Given the description of an element on the screen output the (x, y) to click on. 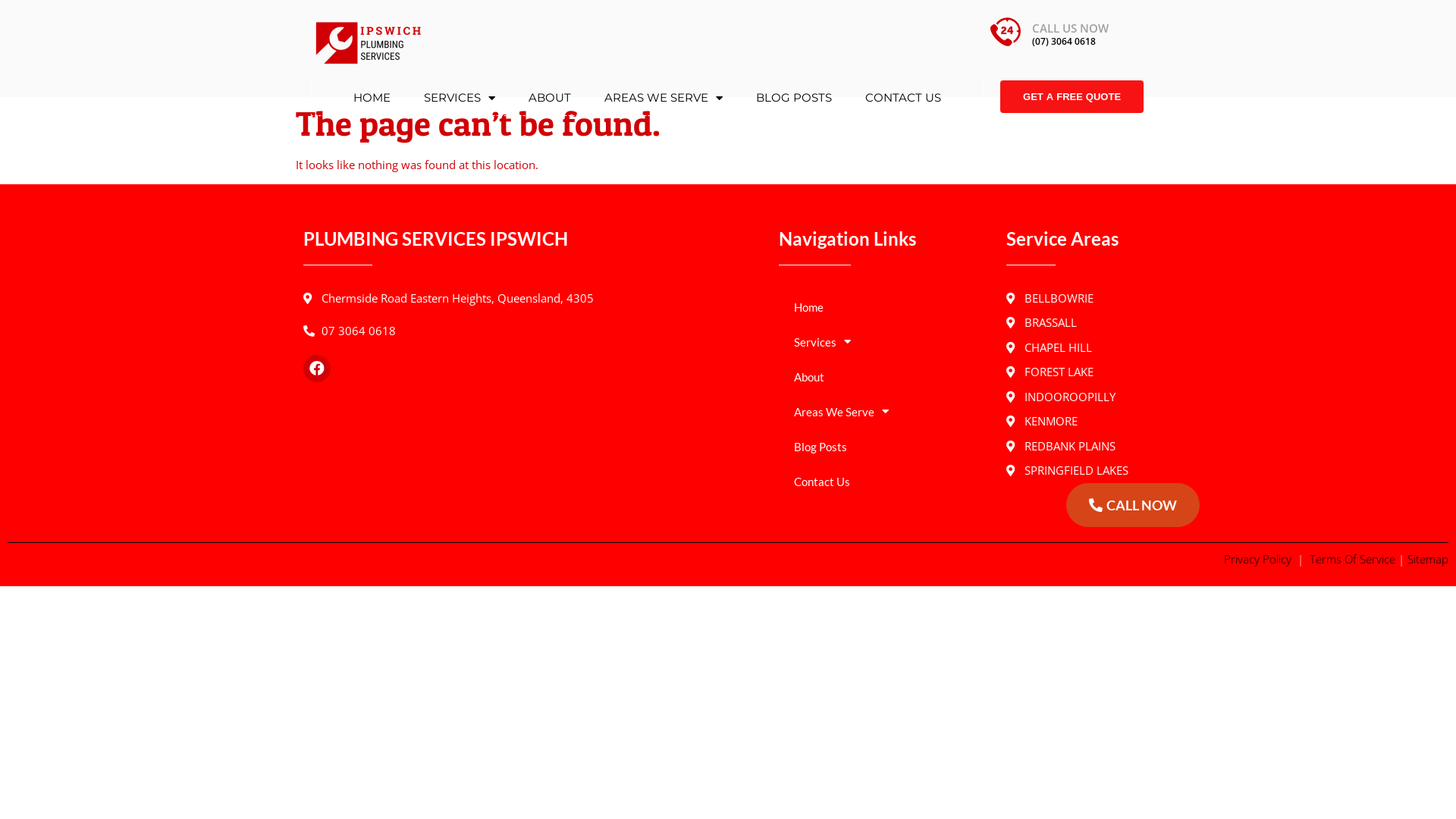
Areas We Serve Element type: text (884, 411)
Home Element type: text (884, 306)
Services Element type: text (884, 341)
REDBANK PLAINS Element type: text (1076, 446)
AREAS WE SERVE Element type: text (663, 97)
CHAPEL HILL Element type: text (1076, 347)
HOME Element type: text (371, 97)
SERVICES Element type: text (459, 97)
ABOUT Element type: text (549, 97)
Blog Posts Element type: text (884, 446)
INDOOROOPILLY Element type: text (1076, 396)
Terms Of Service Element type: text (1353, 558)
BLOG POSTS Element type: text (793, 97)
About Element type: text (884, 376)
FOREST LAKE Element type: text (1076, 371)
GET A FREE QUOTE Element type: text (1071, 96)
Contact Us Element type: text (884, 481)
BRASSALL Element type: text (1076, 322)
Sitemap Element type: text (1427, 558)
BELLBOWRIE Element type: text (1076, 298)
CONTACT US Element type: text (902, 97)
Privacy Policy  Element type: text (1258, 558)
CALL NOW Element type: text (1132, 505)
07 3064 0618 Element type: text (533, 330)
CALL US NOW Element type: text (1070, 27)
KENMORE Element type: text (1076, 420)
SPRINGFIELD LAKES Element type: text (1076, 470)
